Given the description of an element on the screen output the (x, y) to click on. 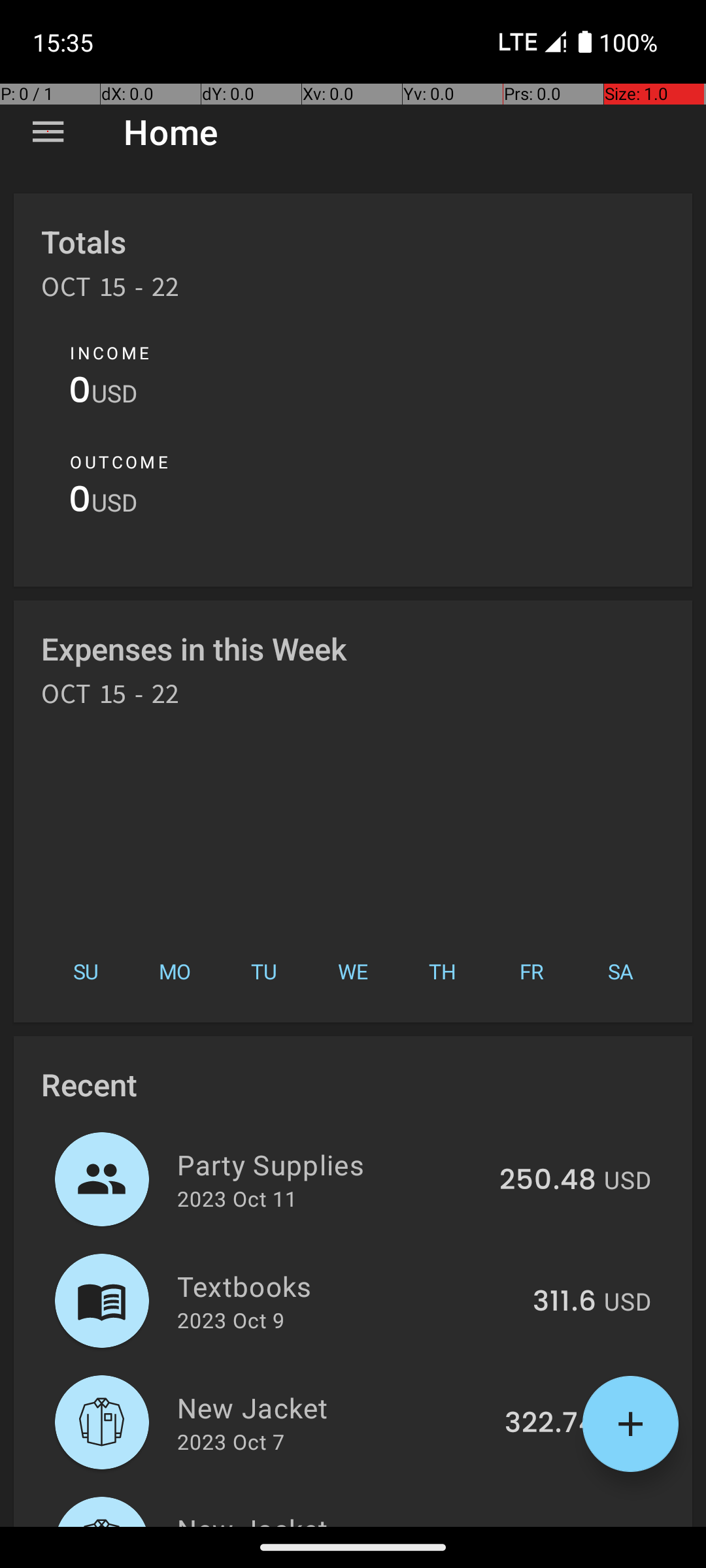
250.48 Element type: android.widget.TextView (547, 1180)
Textbooks Element type: android.widget.TextView (347, 1285)
311.6 Element type: android.widget.TextView (564, 1301)
New Jacket Element type: android.widget.TextView (333, 1407)
322.74 Element type: android.widget.TextView (550, 1423)
